Given the description of an element on the screen output the (x, y) to click on. 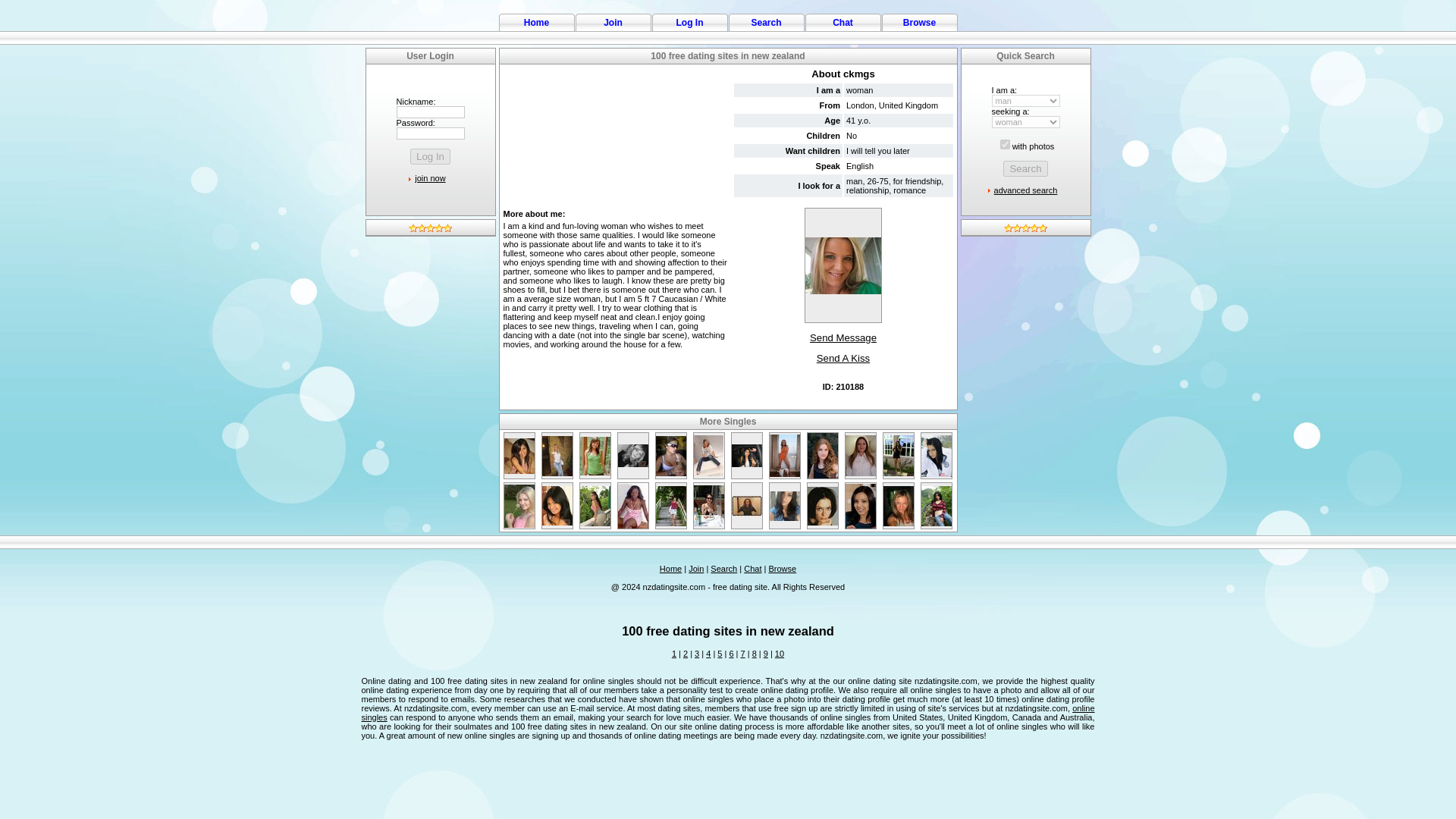
advanced search (1026, 189)
join now (429, 177)
Send Message (842, 338)
Chat (842, 21)
Log In (690, 21)
Send A Kiss (842, 358)
Search (1024, 168)
Browse (919, 21)
on (1005, 144)
Search (1024, 168)
